Given the description of an element on the screen output the (x, y) to click on. 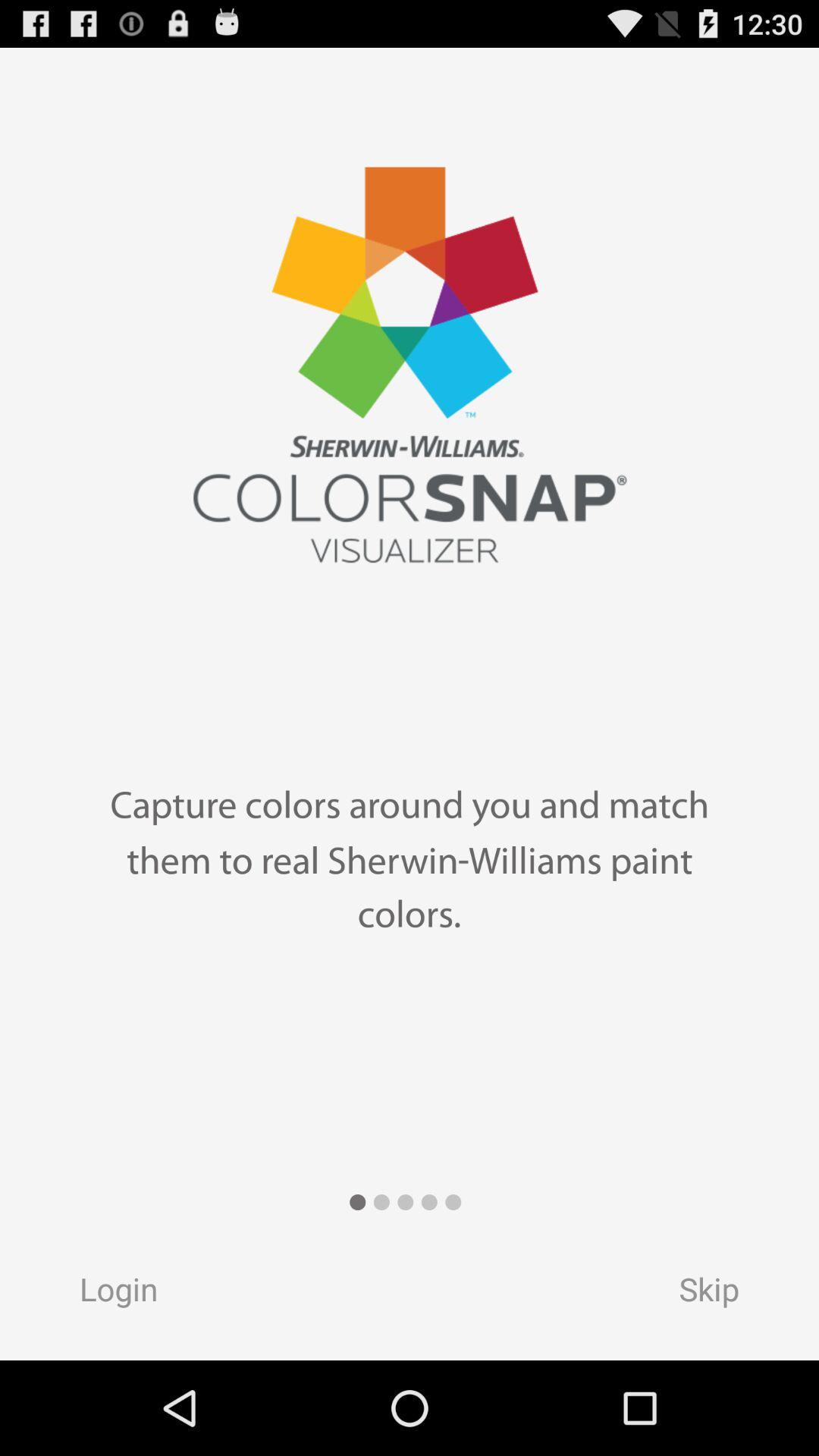
click item next to skip item (104, 1293)
